Given the description of an element on the screen output the (x, y) to click on. 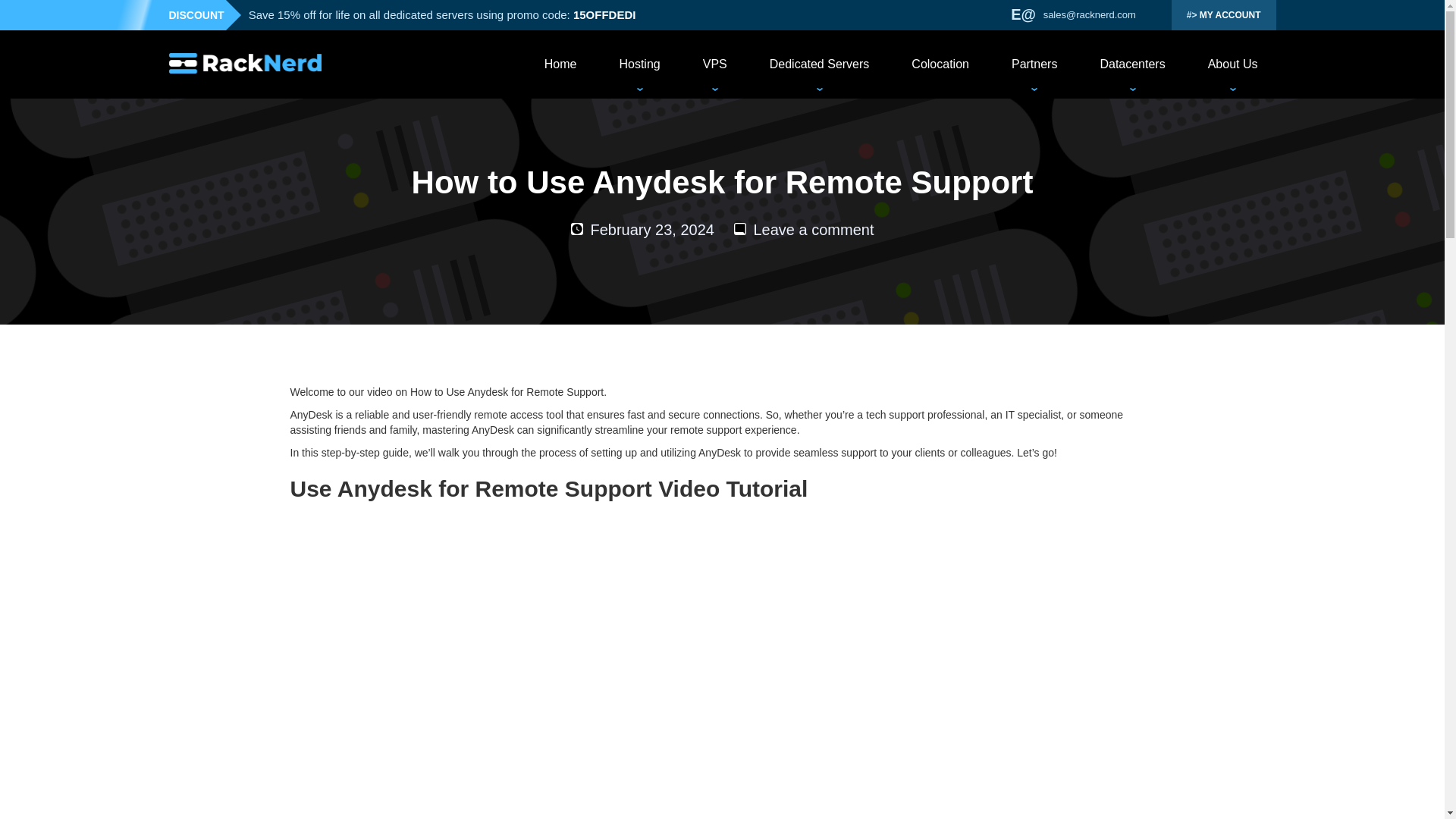
About Us (1232, 63)
Hosting (638, 63)
Dedicated Servers (819, 63)
Partners (1033, 63)
Home (560, 63)
MY ACCOUNT (1224, 15)
Colocation (940, 63)
VPS (714, 63)
VPS (714, 63)
Home (560, 63)
